Given the description of an element on the screen output the (x, y) to click on. 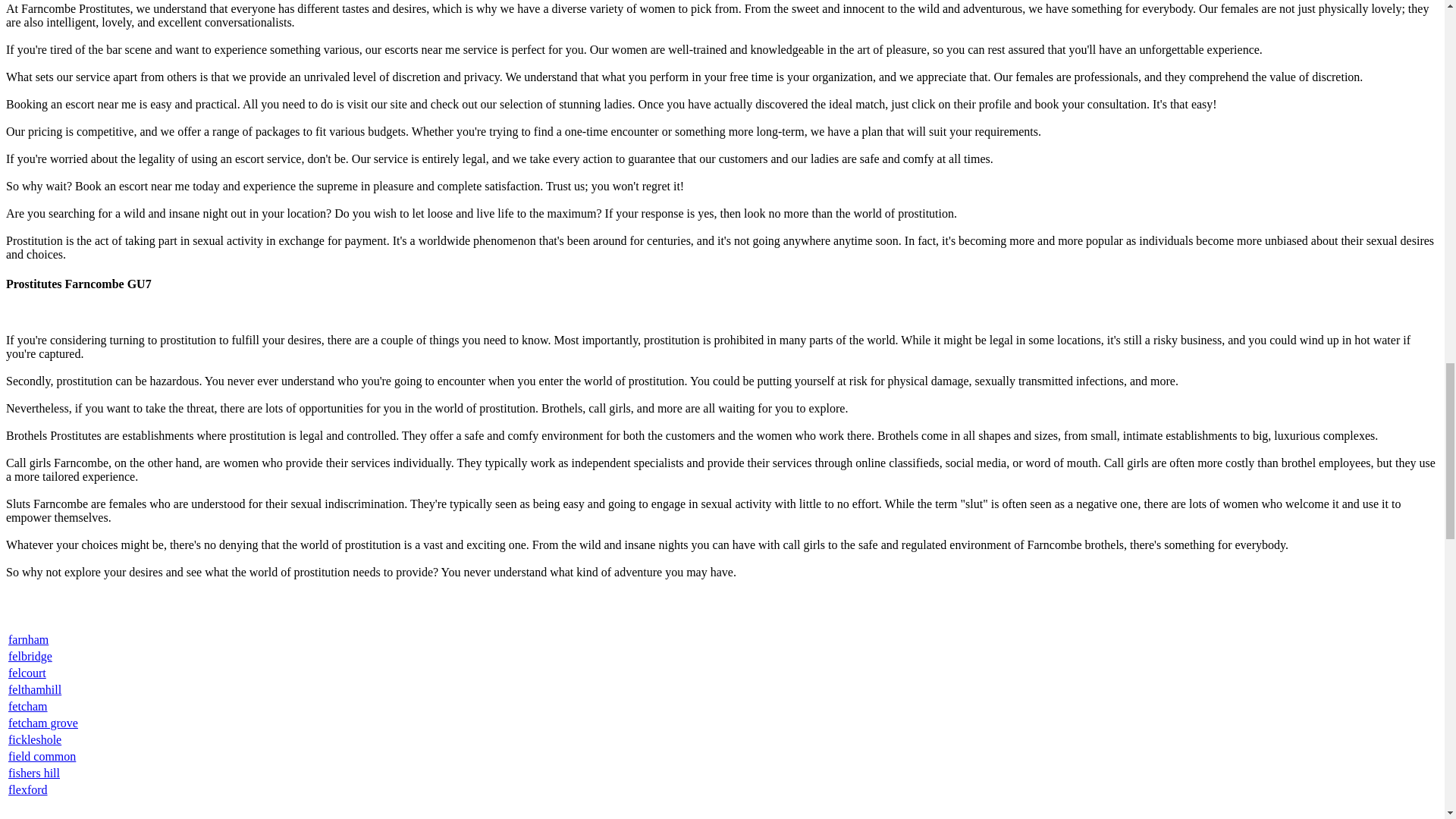
fetcham (28, 706)
felcourt (27, 672)
fickleshole (34, 739)
fishers hill (33, 772)
felthamhill (34, 689)
felbridge (30, 656)
fetcham grove (43, 722)
farnham (28, 639)
field common (41, 756)
flexford (28, 789)
